Given the description of an element on the screen output the (x, y) to click on. 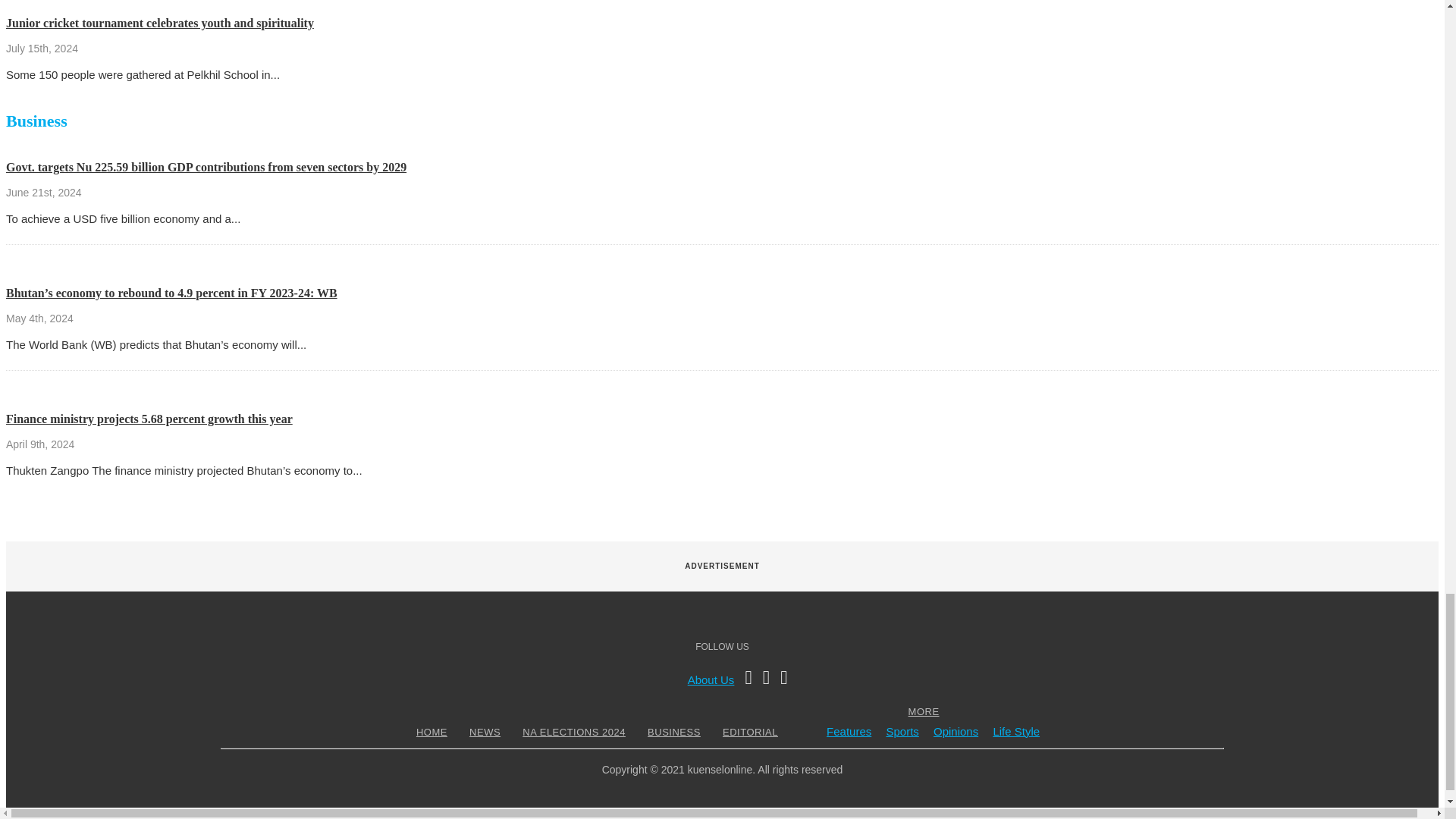
Junior cricket tournament celebrates youth and spirituality (159, 22)
BUSINESS (673, 731)
NEWS (484, 731)
NA ELECTIONS 2024 (573, 731)
About Us (711, 679)
EDITORIAL (750, 731)
MORE (923, 711)
Finance ministry projects 5.68 percent growth this year (148, 418)
HOME (431, 731)
